Given the description of an element on the screen output the (x, y) to click on. 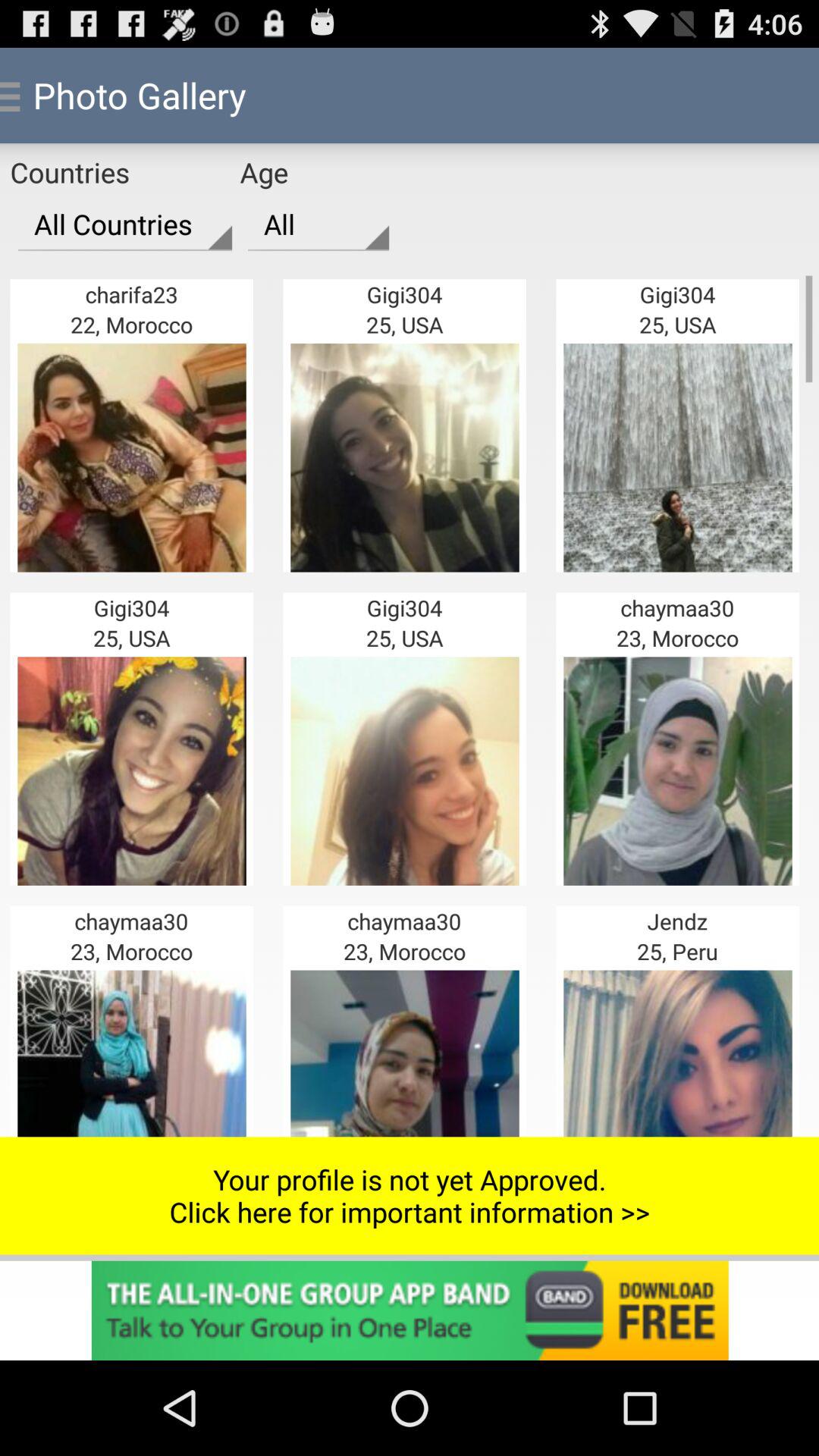
add page (409, 1310)
